Given the description of an element on the screen output the (x, y) to click on. 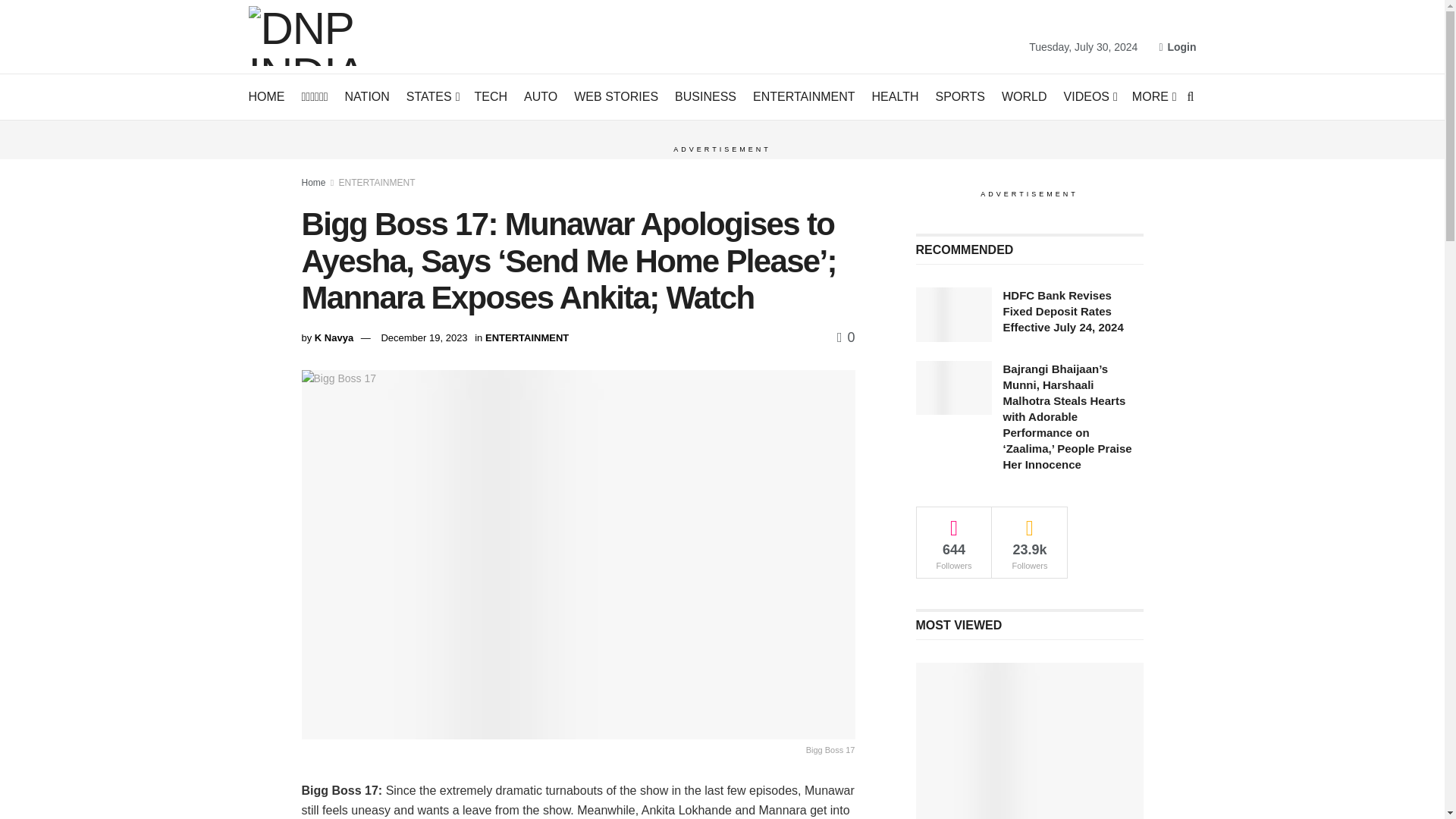
NATION (367, 96)
SPORTS (959, 96)
WEB STORIES (615, 96)
HEALTH (895, 96)
AUTO (540, 96)
MORE (1153, 96)
STATES (432, 96)
Login (1176, 46)
BUSINESS (705, 96)
VIDEOS (1089, 96)
TECH (491, 96)
WORLD (1023, 96)
HOME (266, 96)
ENTERTAINMENT (804, 96)
